Given the description of an element on the screen output the (x, y) to click on. 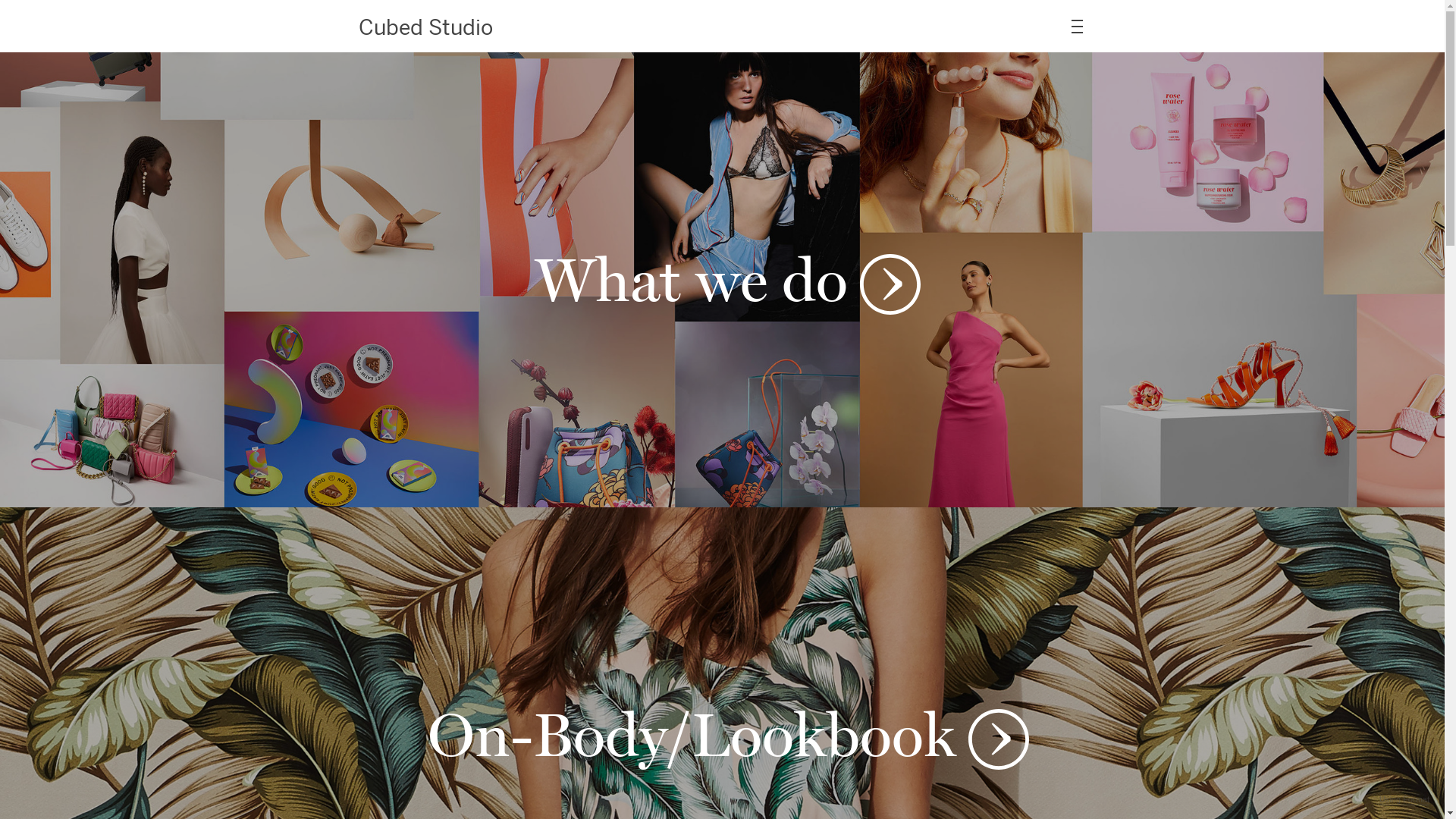
Using Format Element type: text (1404, 799)
Cubed Studio Element type: text (424, 26)
